Given the description of an element on the screen output the (x, y) to click on. 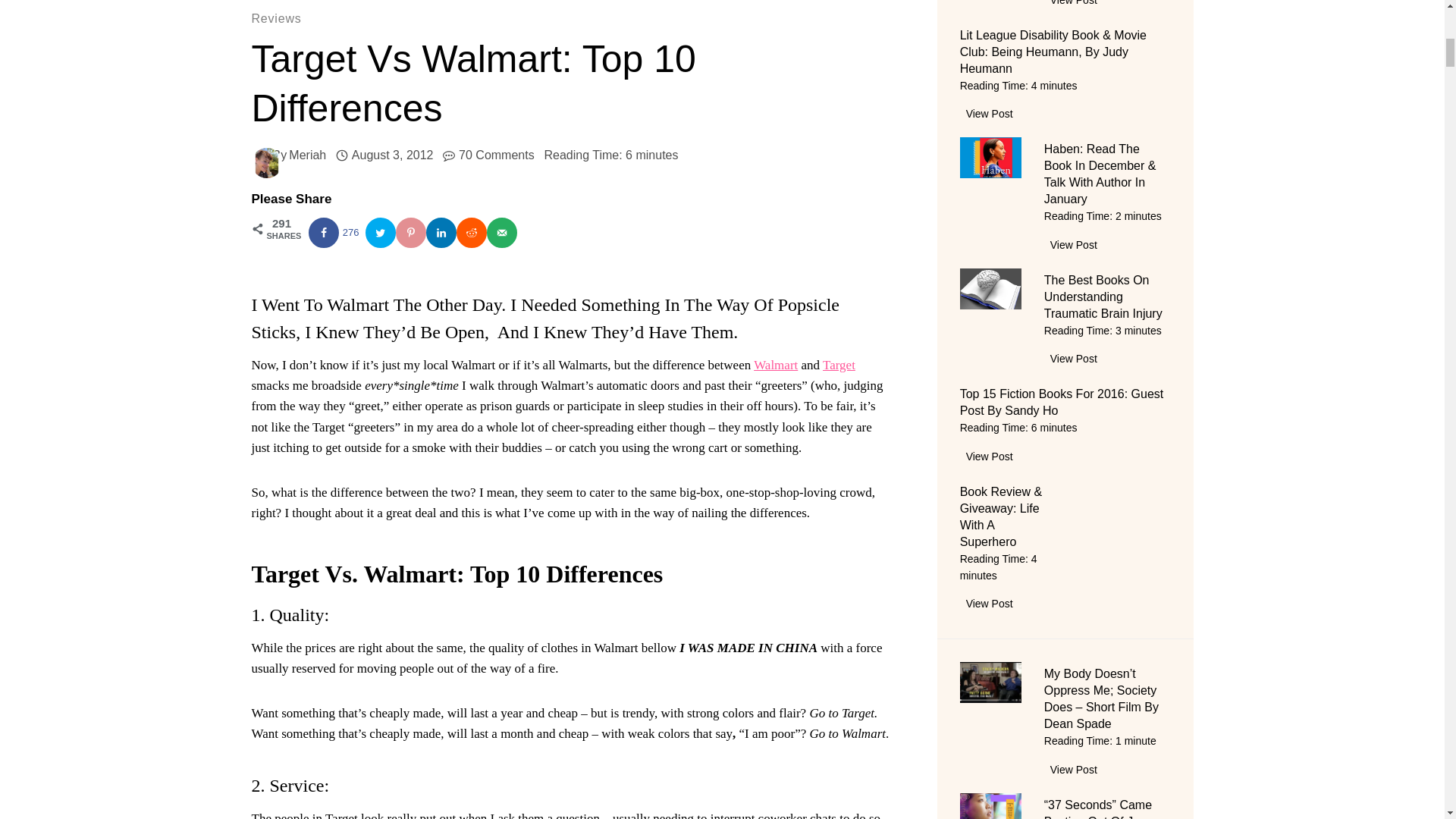
Reviews (276, 18)
Share on Twitter (380, 232)
70 Comments (496, 155)
Meriah (307, 154)
Target (839, 364)
276 (336, 232)
Share on Facebook (336, 232)
70 Comments (496, 155)
Walmart (775, 364)
Share on LinkedIn (441, 232)
